Given the description of an element on the screen output the (x, y) to click on. 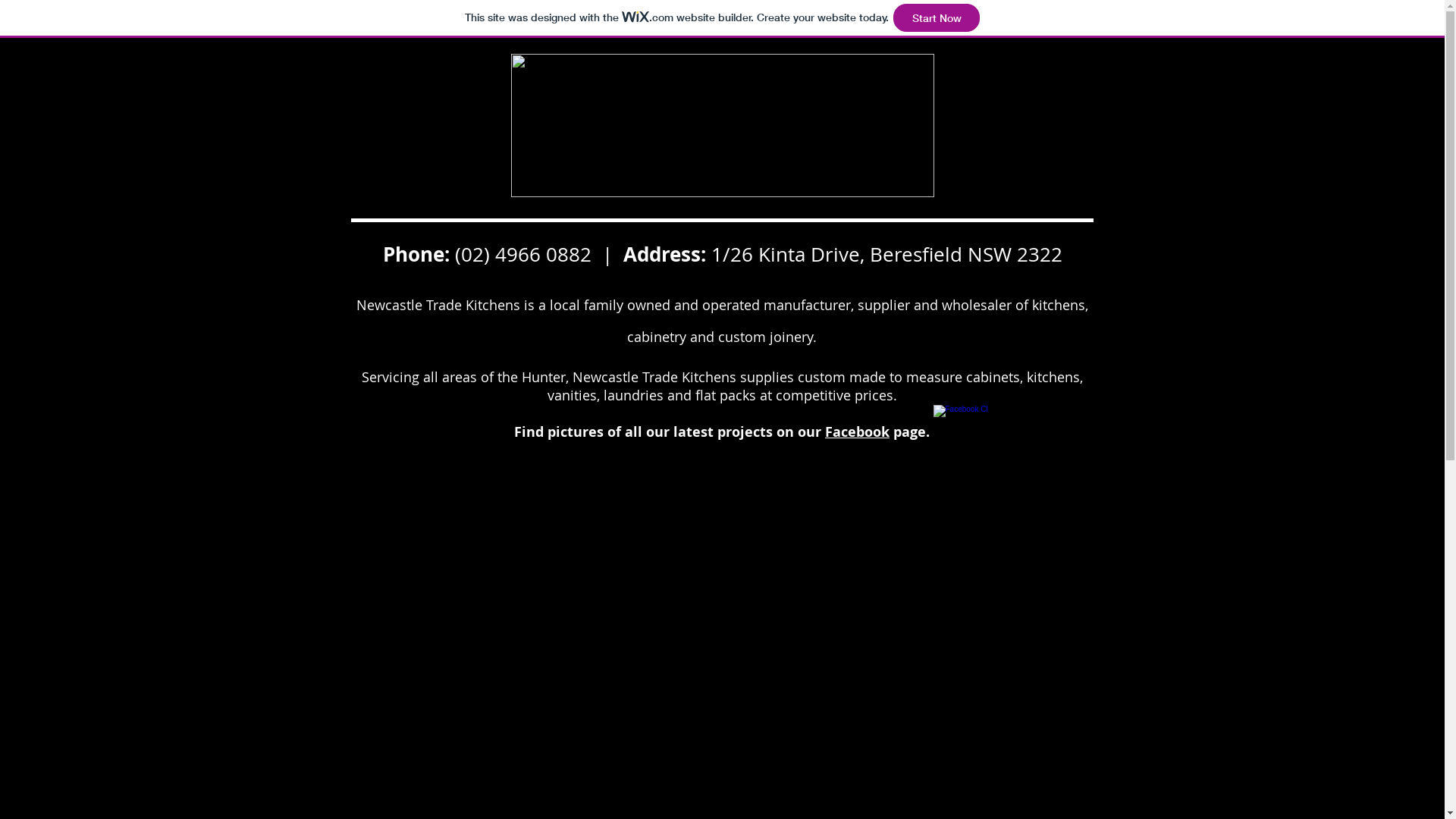
Facebook Element type: text (857, 431)
